Given the description of an element on the screen output the (x, y) to click on. 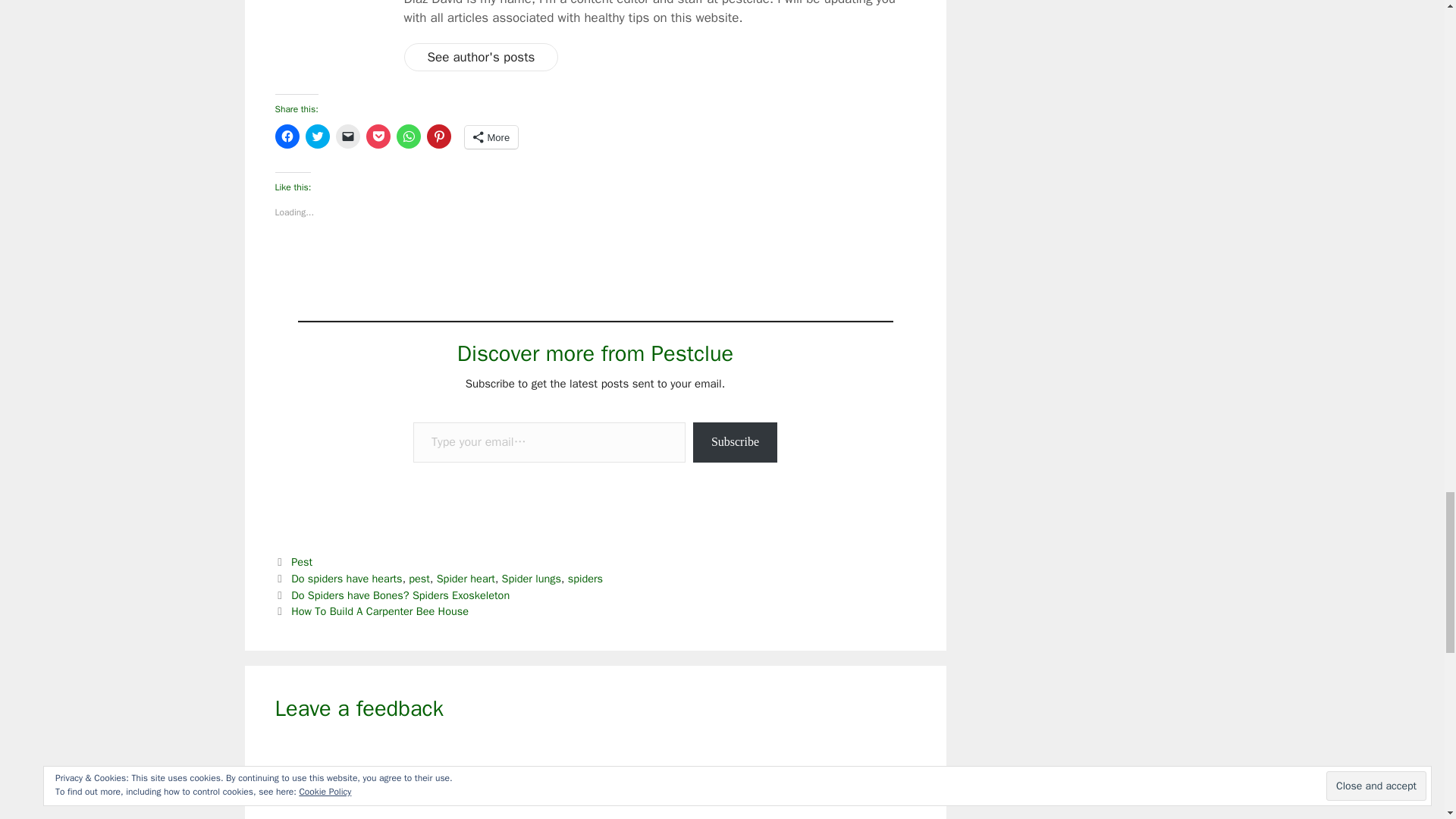
Do Spiders Have Hearts? Spiders Circulatory System 2 (331, 32)
Click to share on Facebook (286, 136)
